Given the description of an element on the screen output the (x, y) to click on. 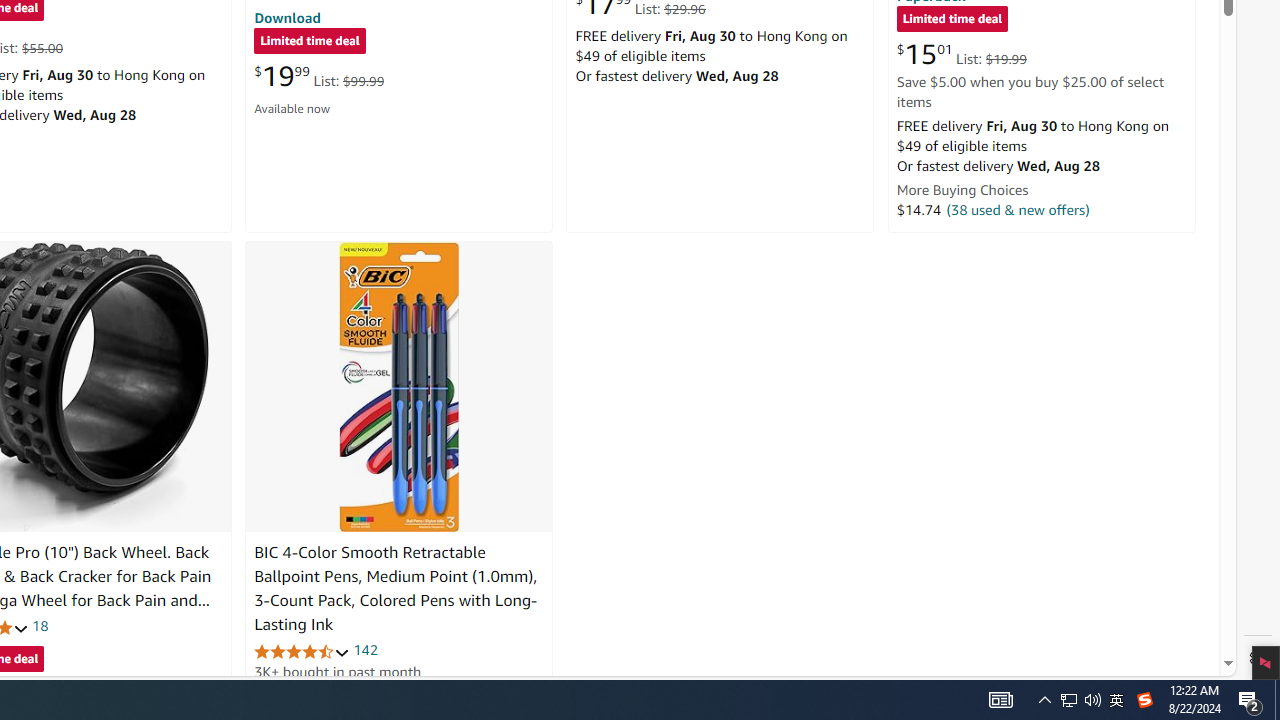
$19.99 List: $99.99 (319, 76)
4.6 out of 5 stars (301, 650)
Download (287, 17)
142 (365, 650)
Limited time deal (952, 20)
18 (40, 625)
(38 used & new offers) (1017, 209)
$15.01 List: $19.99 (961, 54)
